Given the description of an element on the screen output the (x, y) to click on. 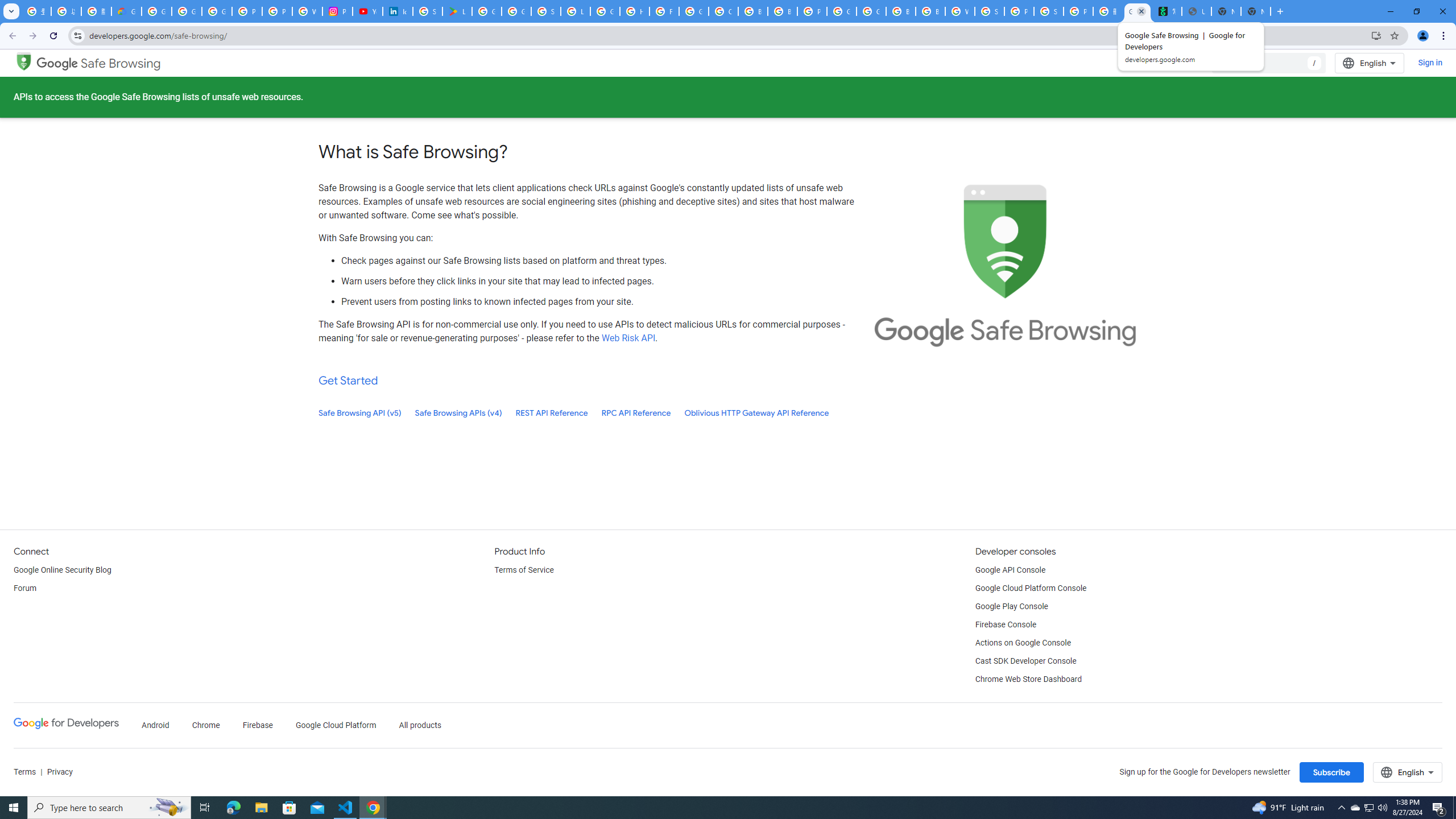
How do I create a new Google Account? - Google Account Help (634, 11)
Sign in - Google Accounts (545, 11)
English (1407, 772)
Google Cloud Platform Console (1030, 588)
Privacy (59, 772)
Google Play Console (1011, 606)
Google Online Security Blog (62, 570)
